Given the description of an element on the screen output the (x, y) to click on. 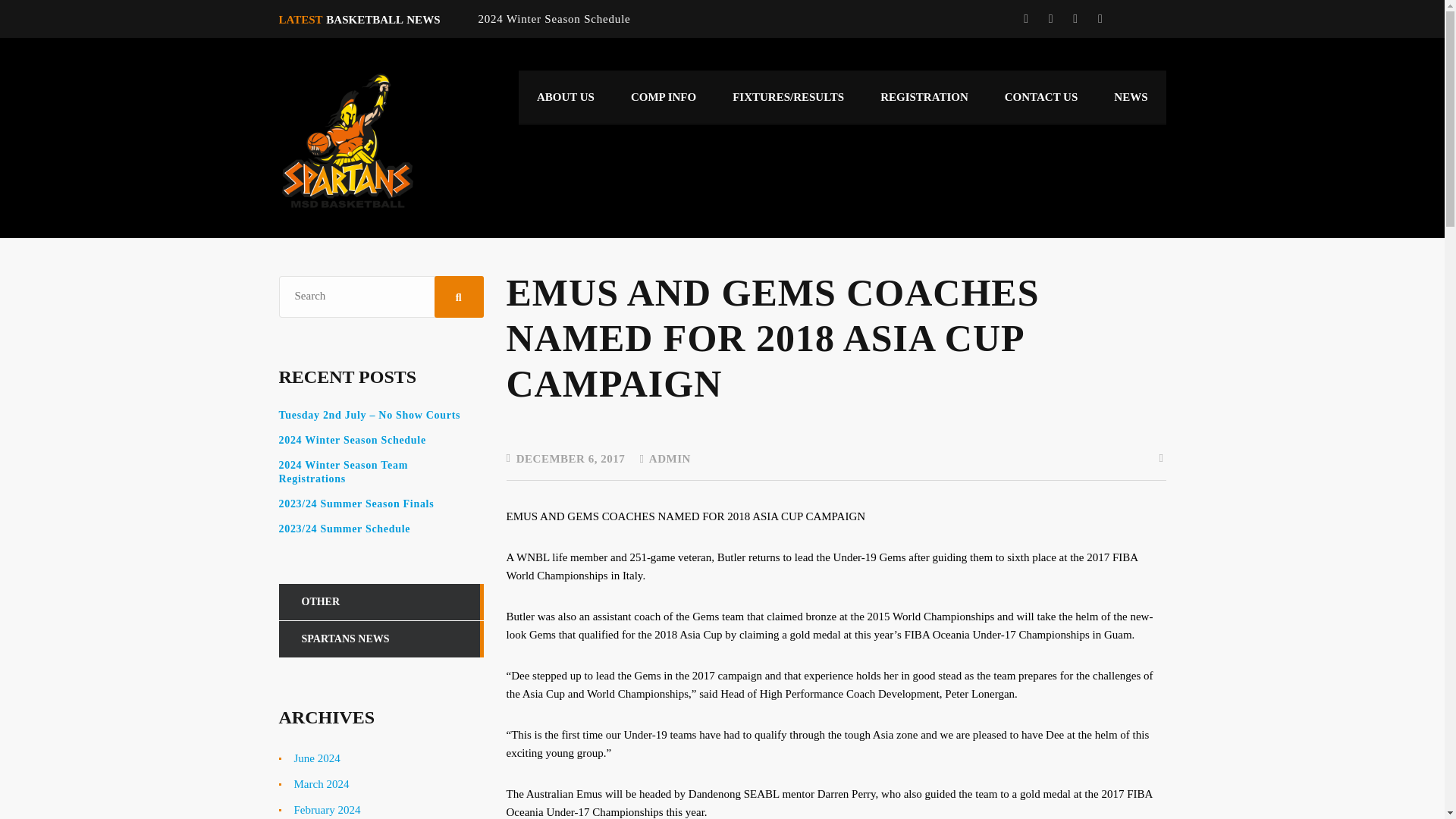
NEWS (1131, 96)
ABOUT US (565, 96)
COMP INFO (663, 96)
Home (346, 139)
CONTACT US (1041, 96)
REGISTRATION (924, 96)
